Given the description of an element on the screen output the (x, y) to click on. 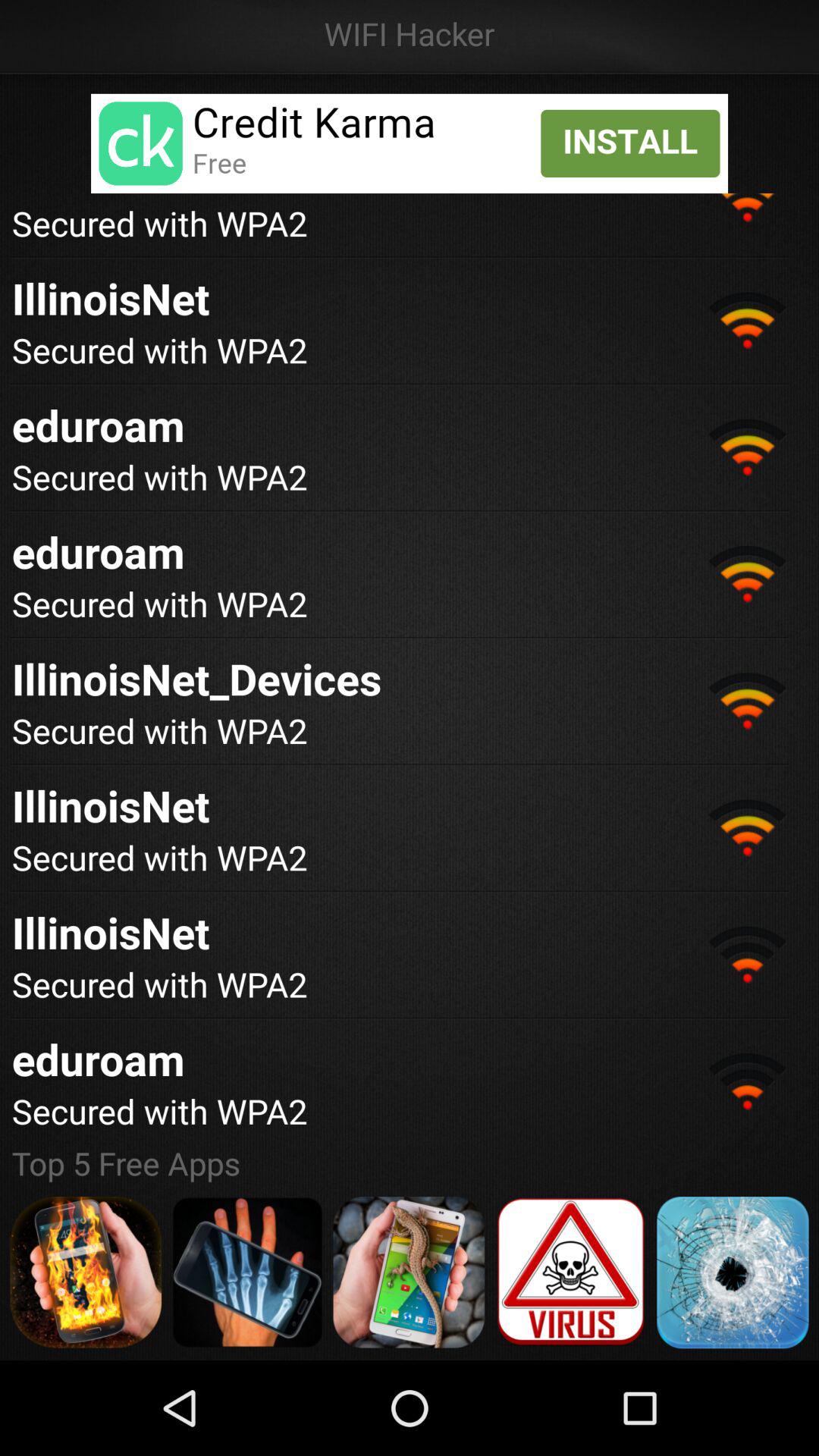
app (247, 1271)
